Given the description of an element on the screen output the (x, y) to click on. 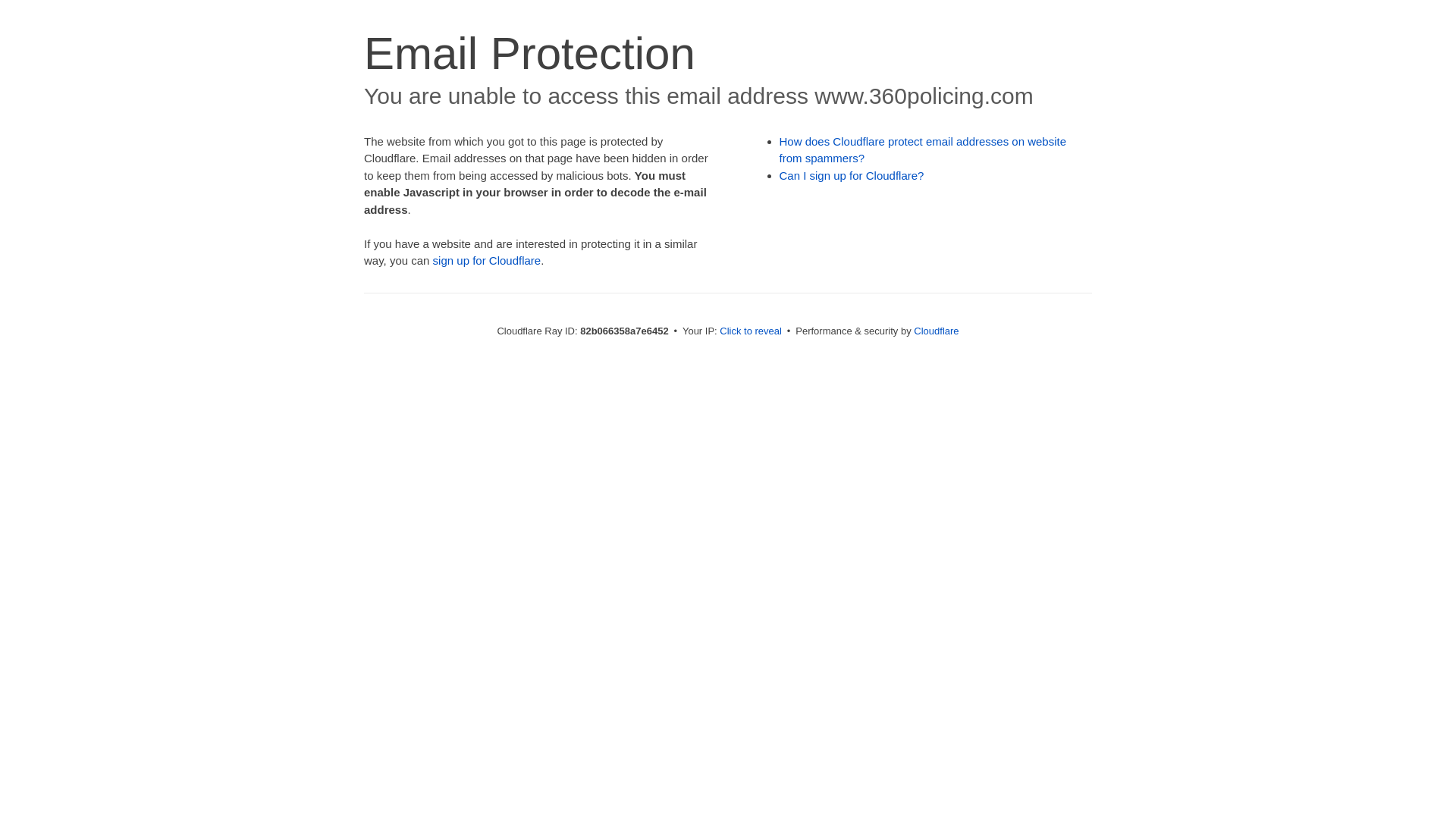
Cloudflare Element type: text (935, 330)
Click to reveal Element type: text (750, 330)
sign up for Cloudflare Element type: text (487, 260)
Can I sign up for Cloudflare? Element type: text (851, 175)
